Given the description of an element on the screen output the (x, y) to click on. 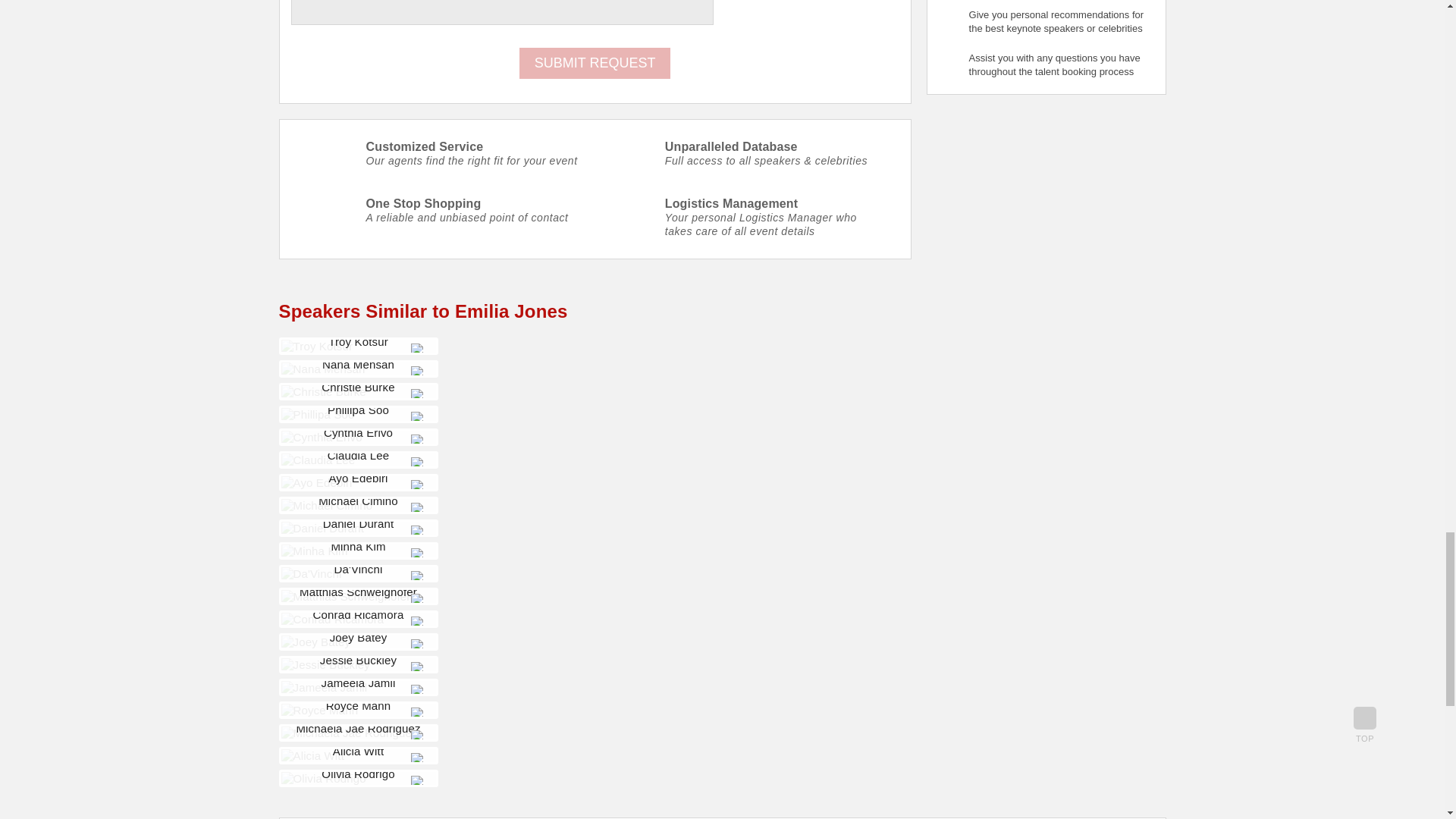
SUBMIT REQUEST (595, 62)
Nana Mensah (323, 368)
Troy Kotsur (316, 345)
